Given the description of an element on the screen output the (x, y) to click on. 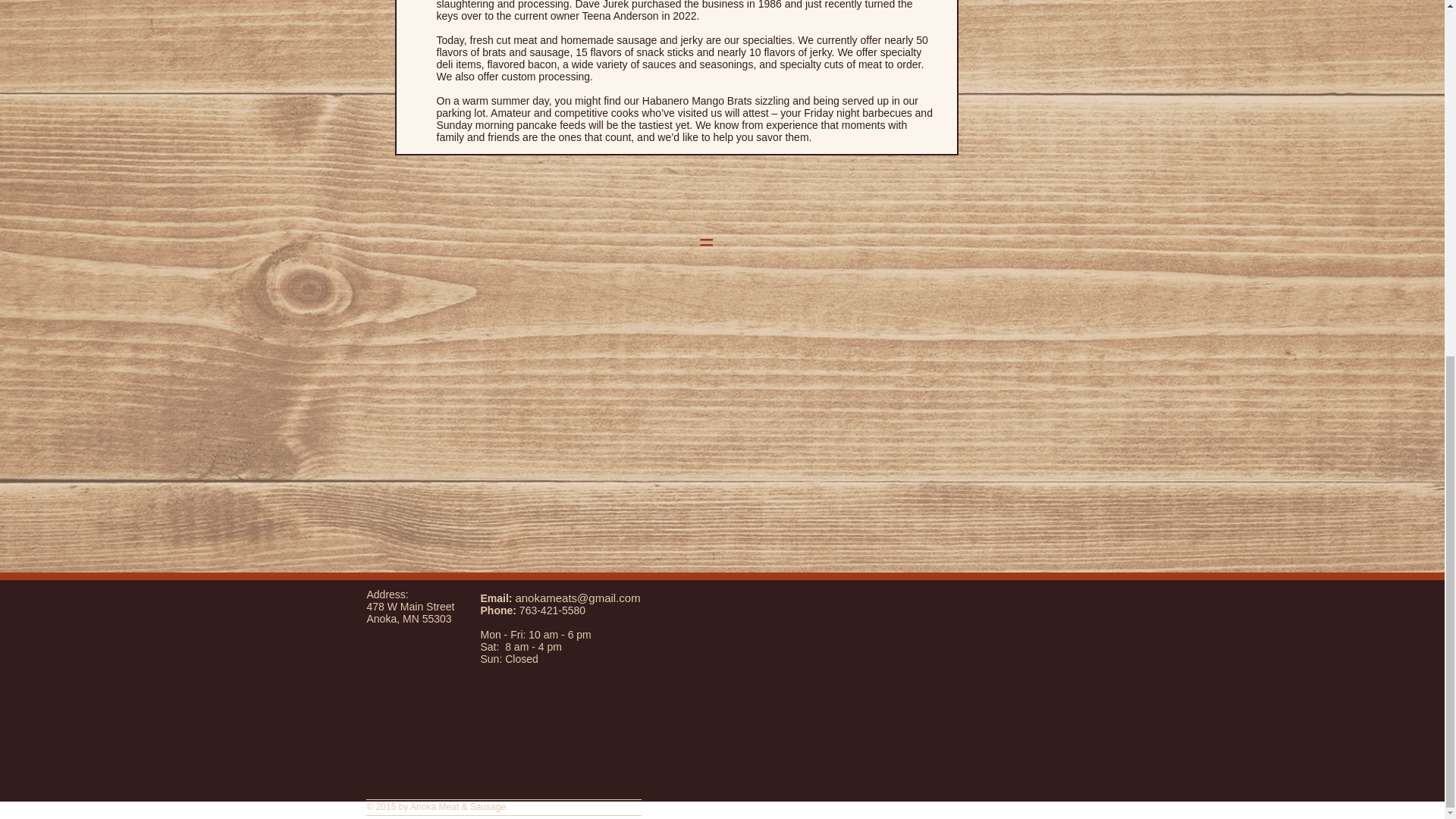
Facebook Like (1046, 602)
